Given the description of an element on the screen output the (x, y) to click on. 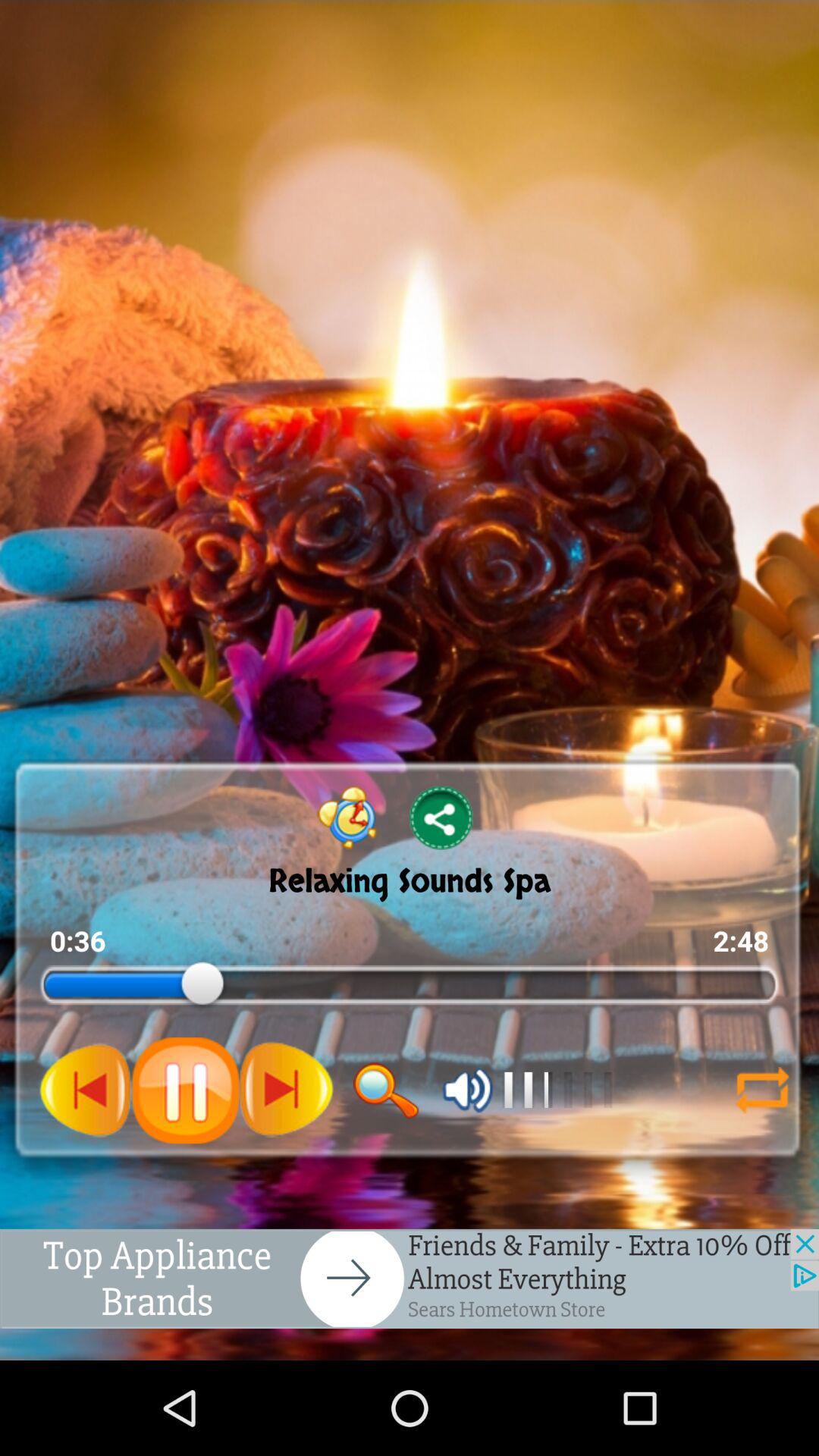
share button (441, 817)
